Given the description of an element on the screen output the (x, y) to click on. 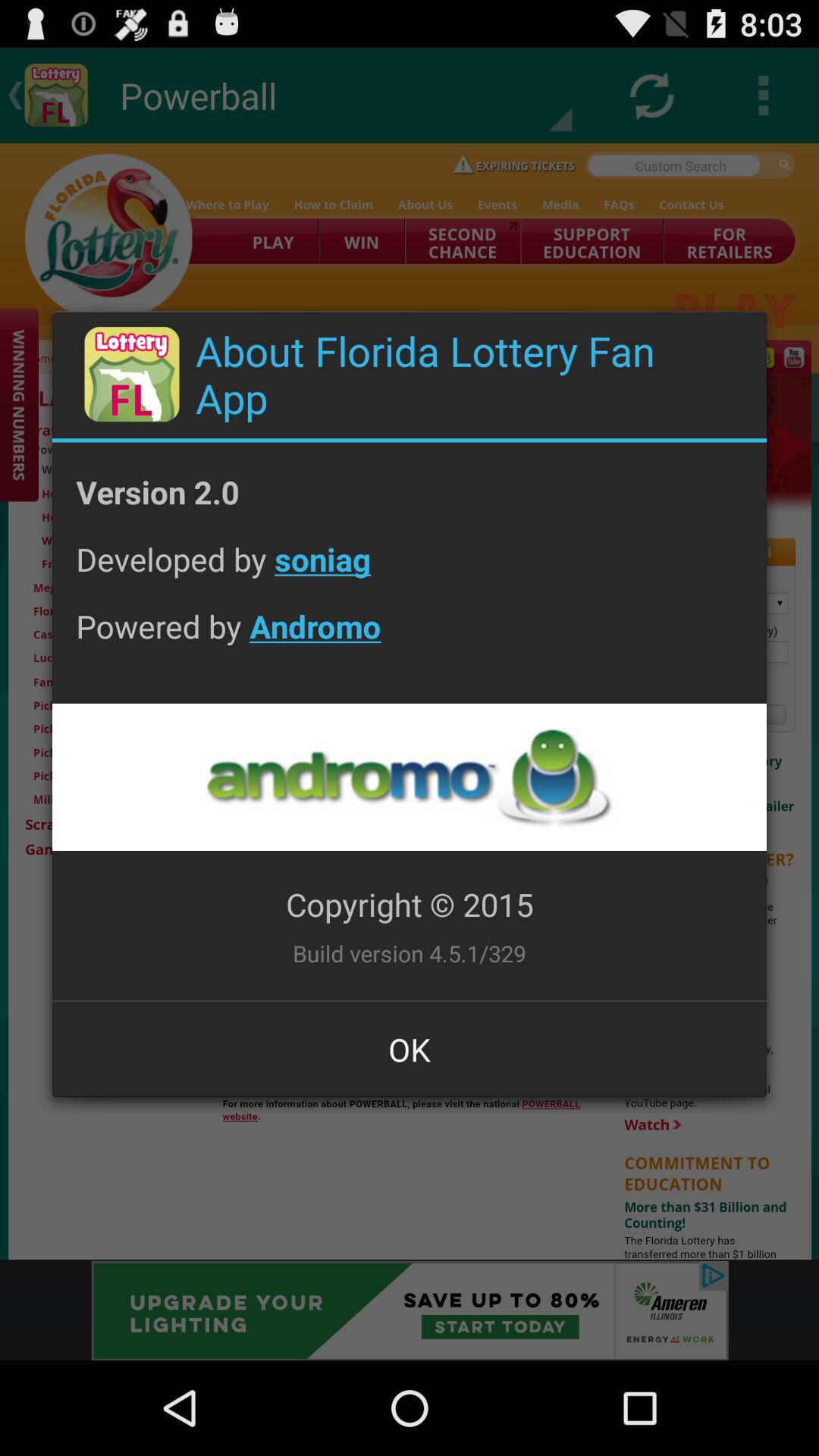
click for website (408, 776)
